Given the description of an element on the screen output the (x, y) to click on. 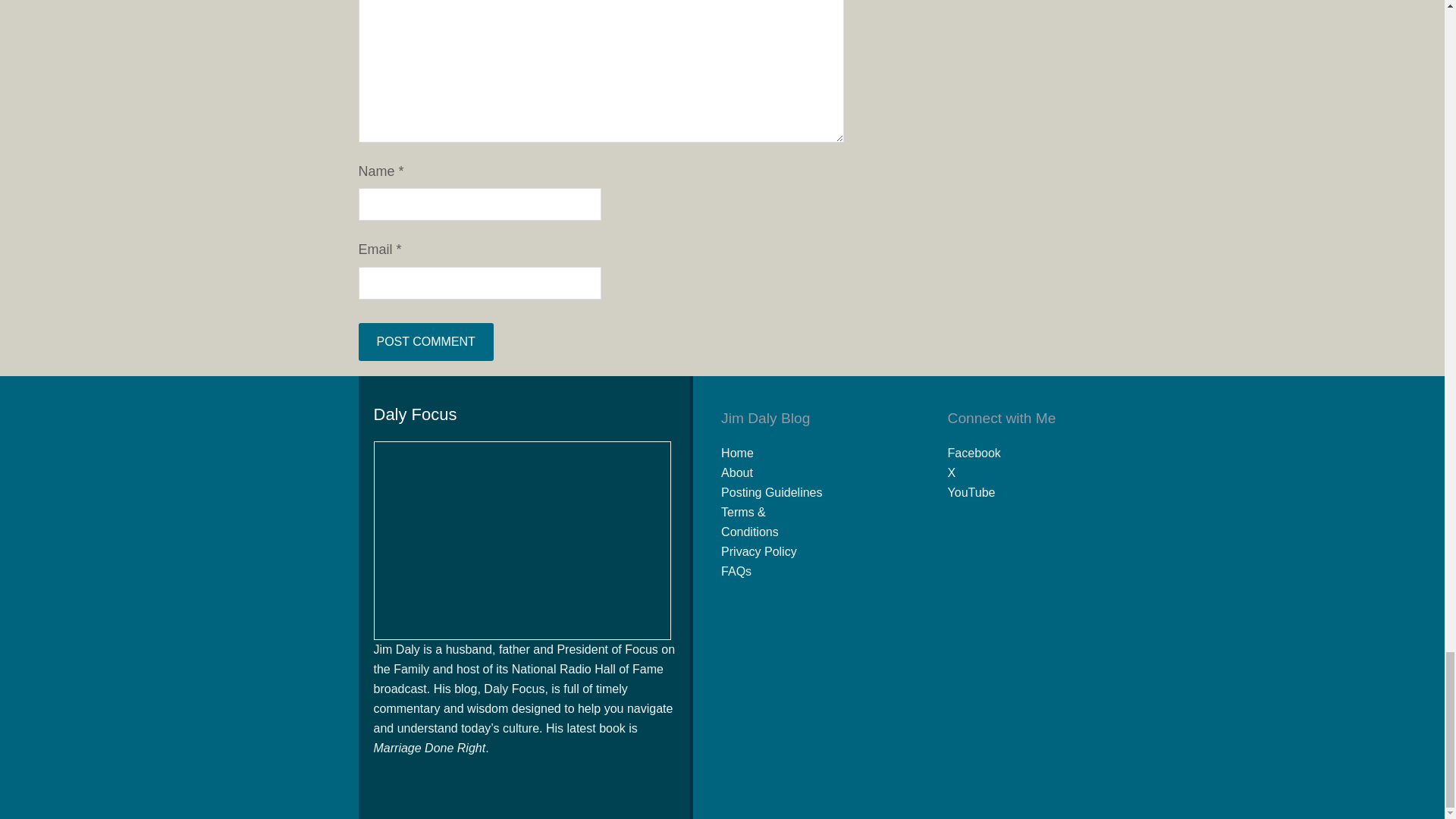
Post Comment (425, 341)
Post Comment (425, 341)
